Given the description of an element on the screen output the (x, y) to click on. 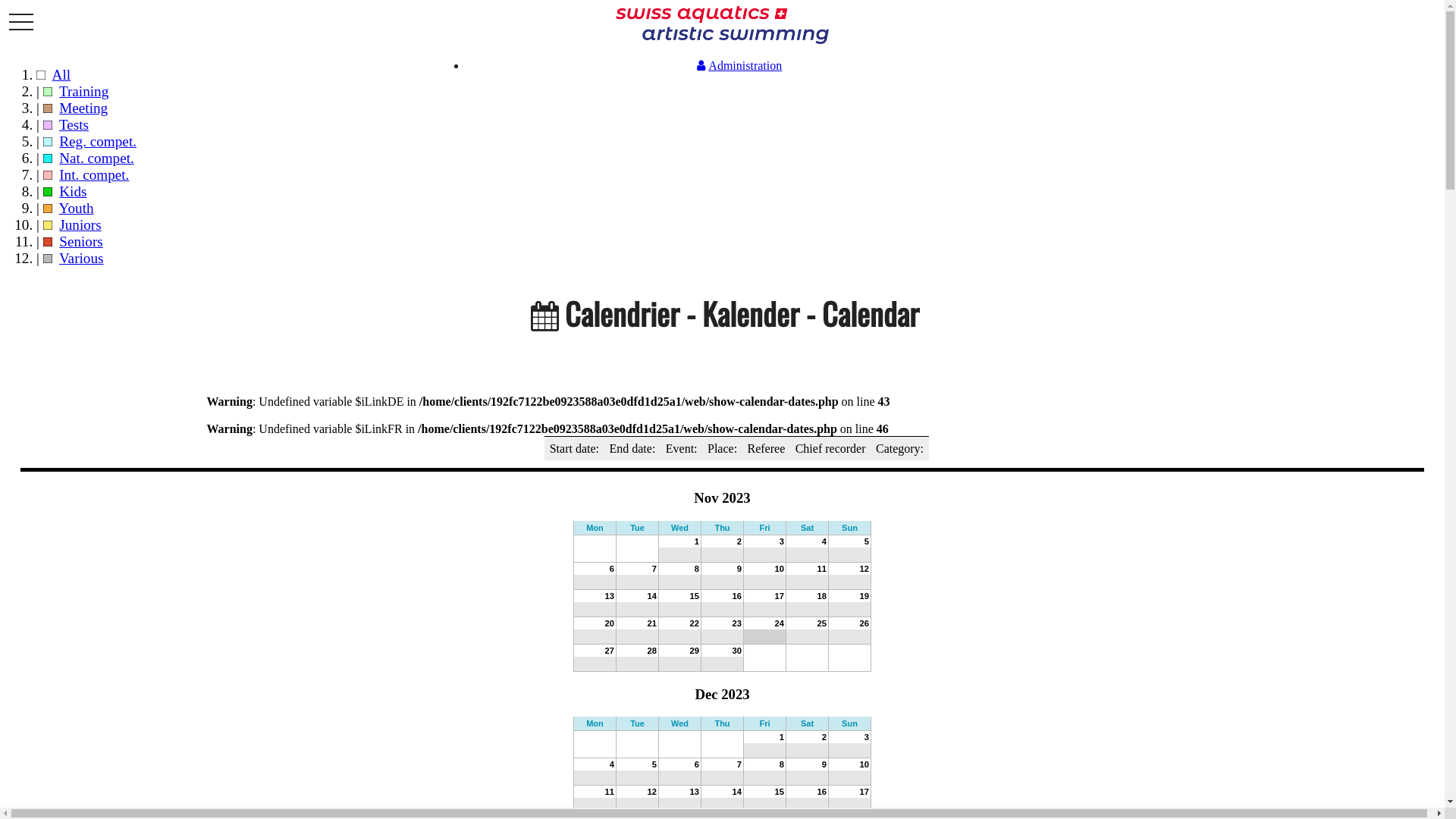
Administration Element type: text (737, 65)
All Element type: text (61, 74)
Kids Element type: text (72, 191)
Juniors Element type: text (79, 224)
Seniors Element type: text (81, 241)
Meeting Element type: text (83, 108)
Training Element type: text (83, 91)
Nat. compet. Element type: text (96, 158)
Int. compet. Element type: text (93, 174)
Reg. compet. Element type: text (97, 141)
Tests Element type: text (73, 124)
toggle navigation Element type: text (21, 22)
Various Element type: text (81, 258)
Youth Element type: text (76, 208)
